Given the description of an element on the screen output the (x, y) to click on. 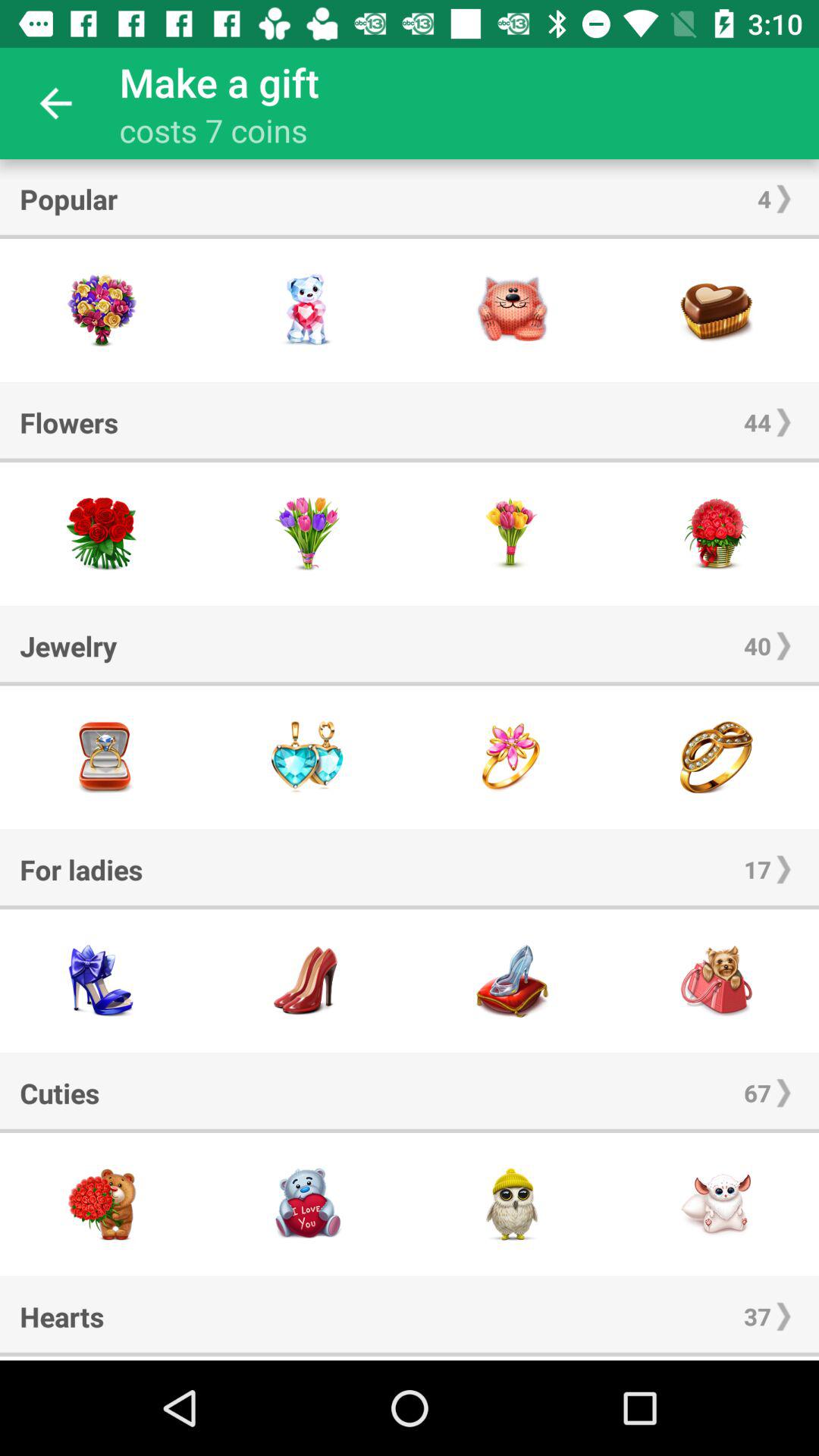
cursor moving option (306, 1358)
